Given the description of an element on the screen output the (x, y) to click on. 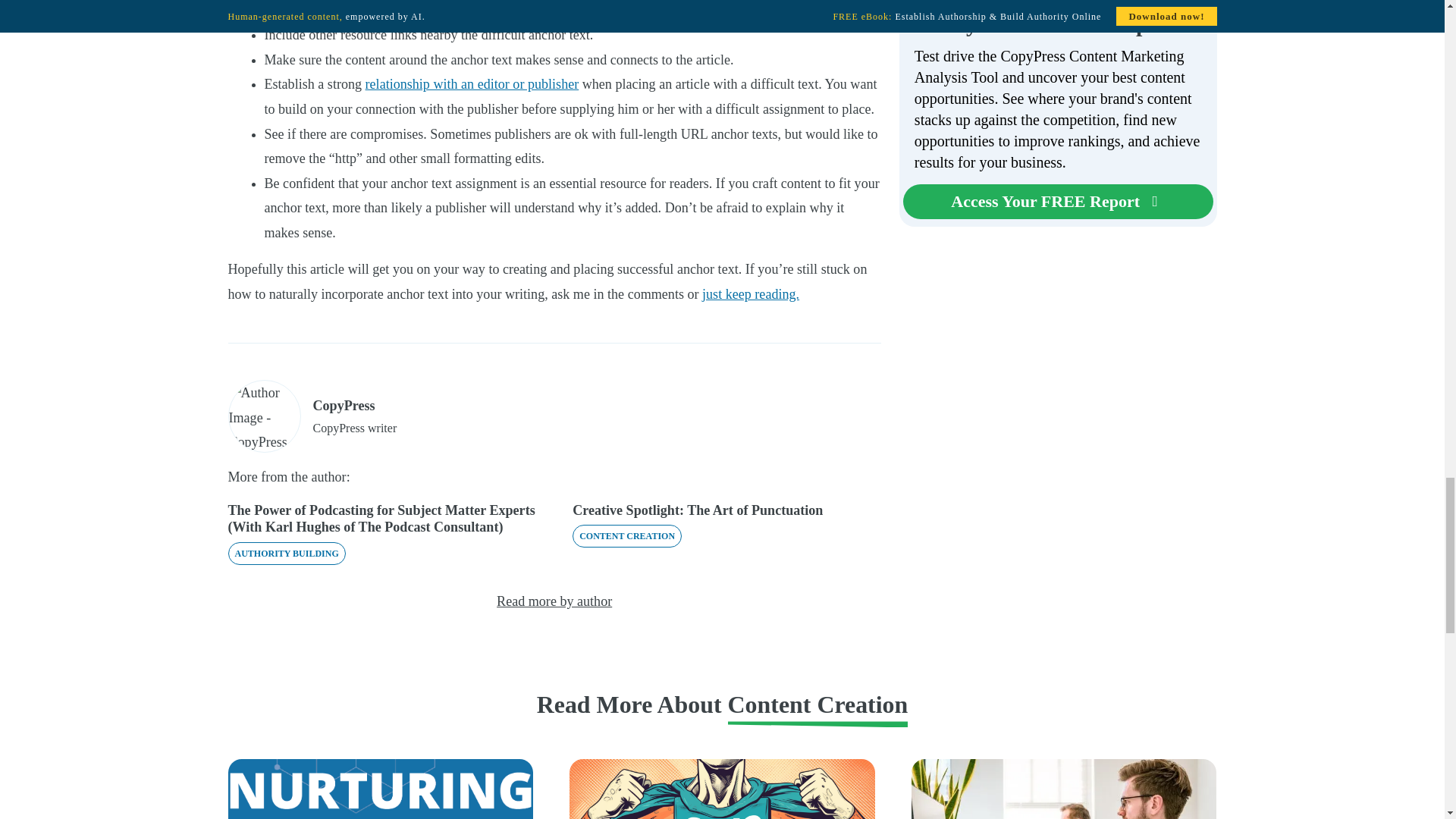
Access Your FREE Report (1057, 201)
Creative Spotlight: The Art of Punctuation (697, 510)
CONTENT CREATION (626, 535)
Taking Connecting to the Next Level of Commitment (472, 83)
AUTHORITY BUILDING (286, 553)
CopyPress (343, 405)
relationship with an editor or publisher (472, 83)
Read more by author (553, 601)
just keep reading. (750, 294)
